Given the description of an element on the screen output the (x, y) to click on. 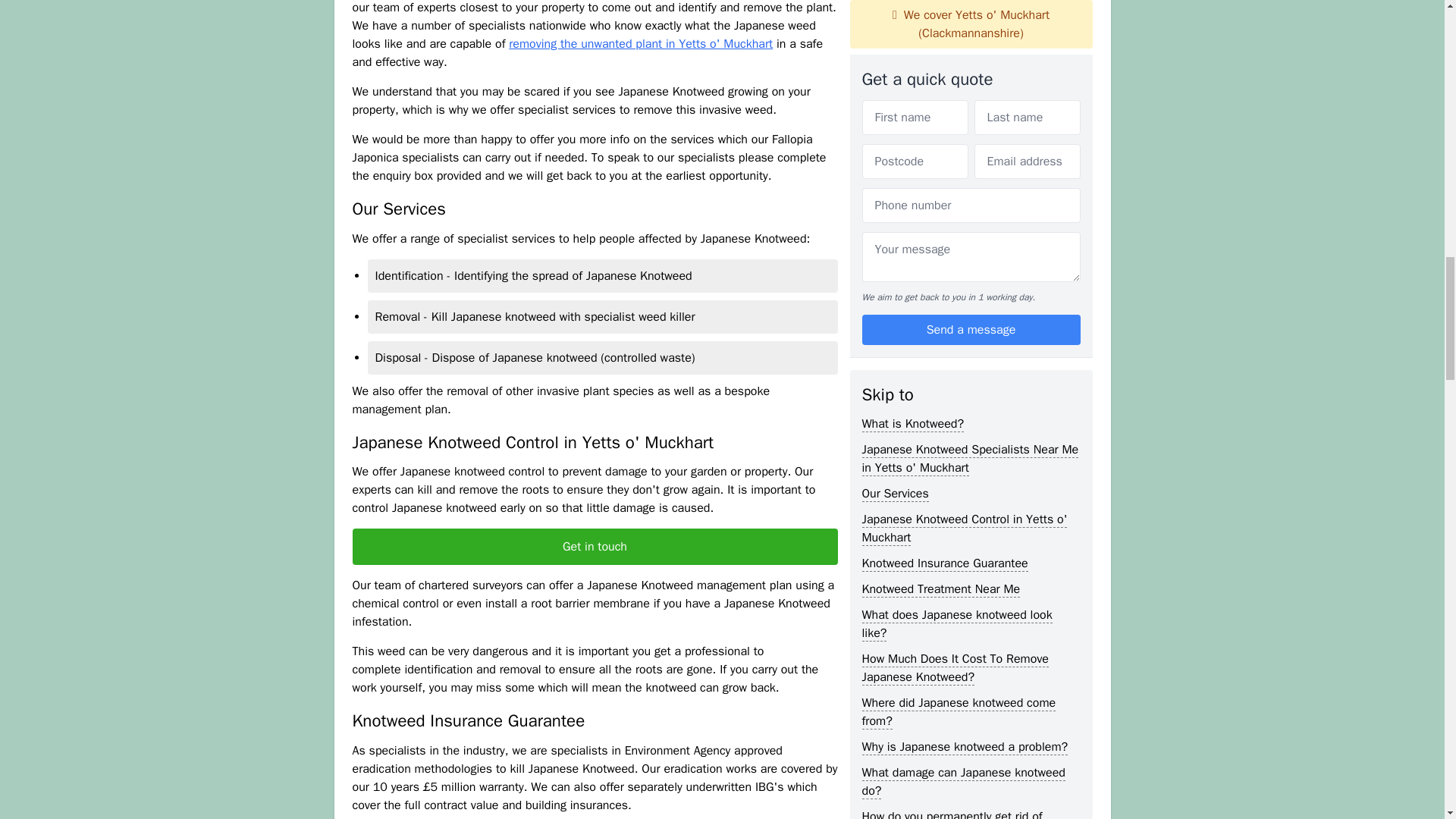
Get in touch (594, 546)
removing the unwanted plant in Yetts o' Muckhart (640, 43)
